Given the description of an element on the screen output the (x, y) to click on. 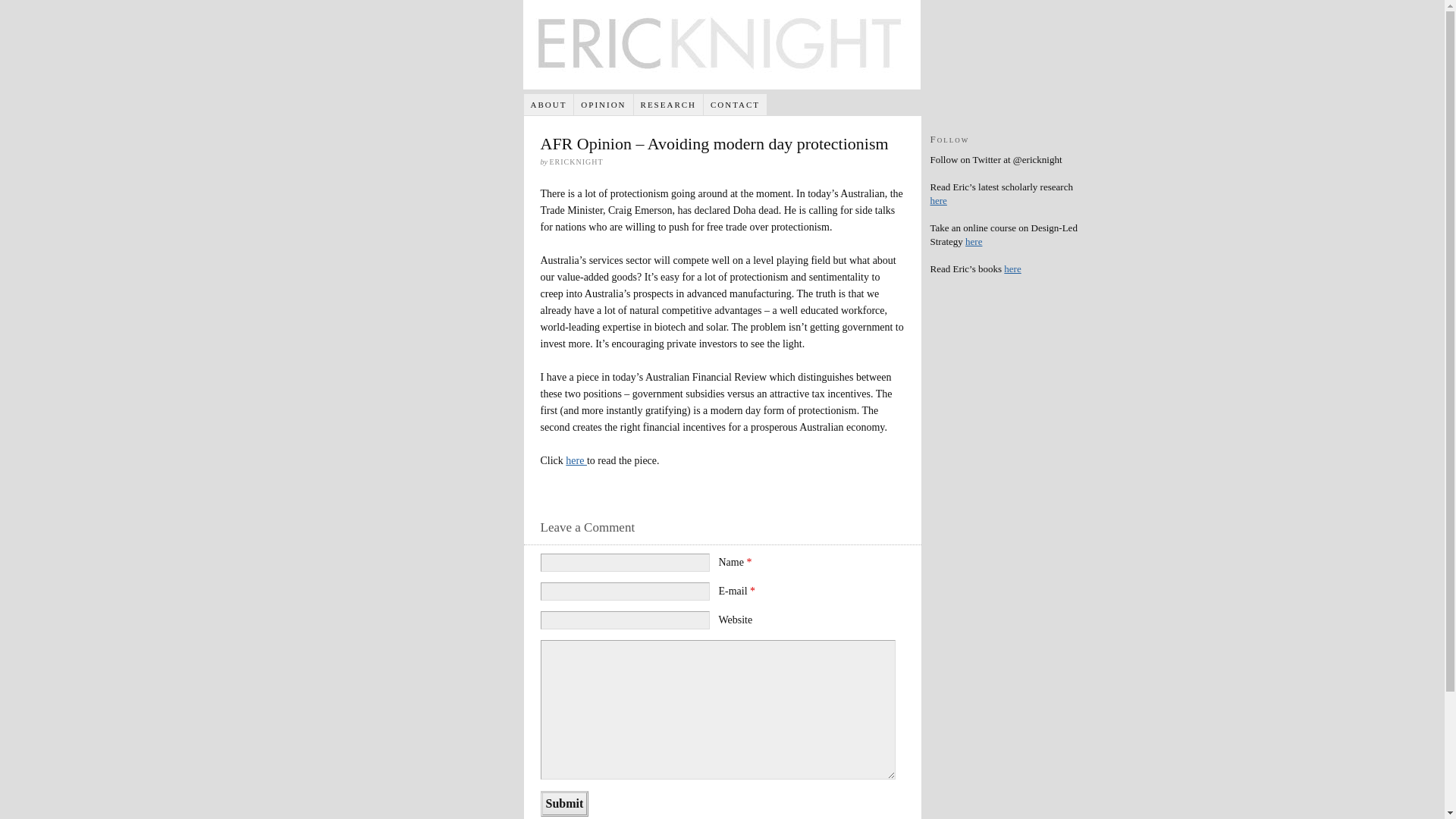
here Element type: text (937, 200)
here Element type: text (575, 460)
Submit Element type: text (563, 803)
here Element type: text (1012, 268)
OPINION Element type: text (603, 104)
CONTACT Element type: text (735, 104)
ABOUT Element type: text (548, 104)
here Element type: text (973, 241)
RESEARCH Element type: text (668, 104)
